Given the description of an element on the screen output the (x, y) to click on. 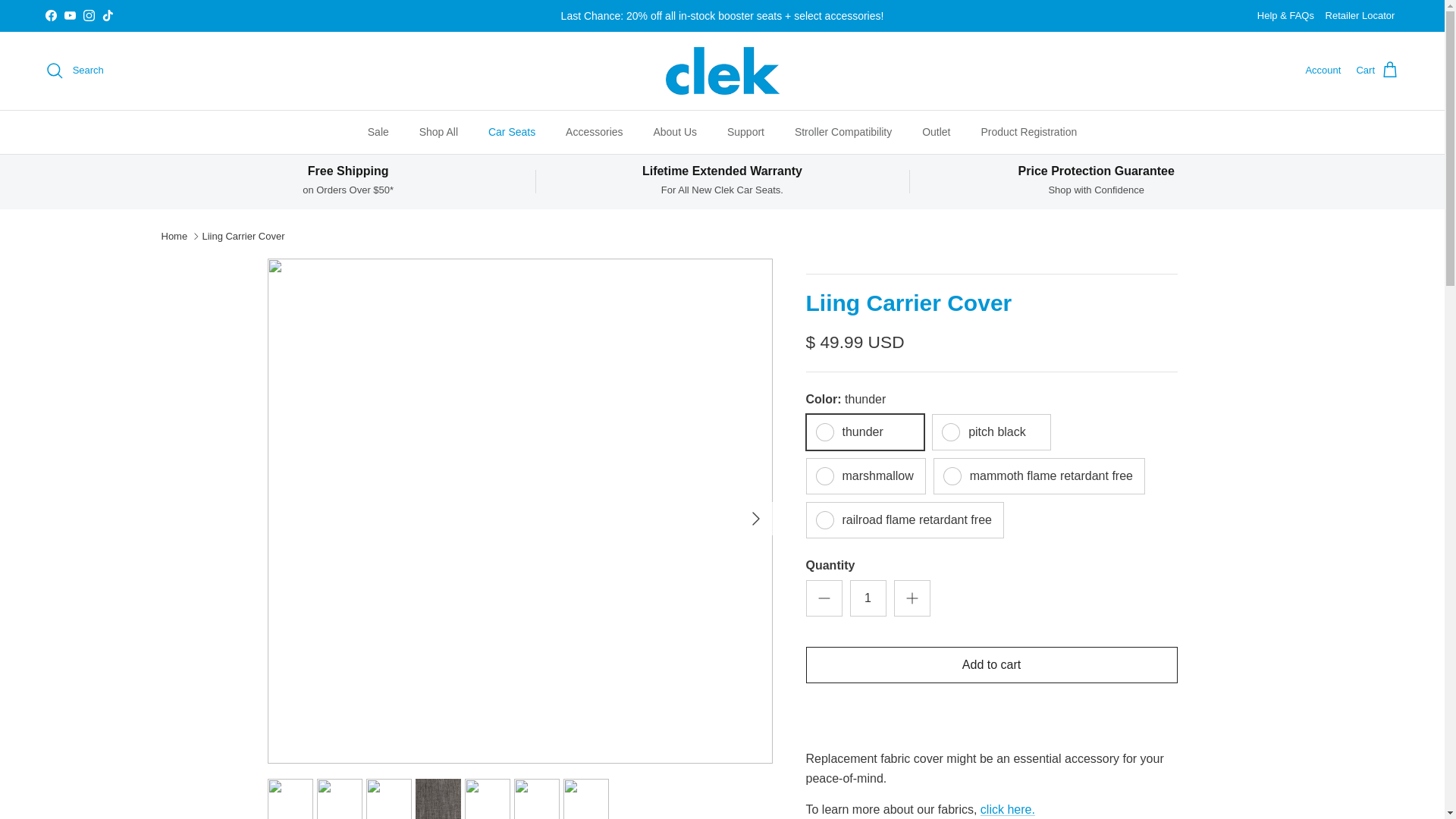
Facebook (50, 15)
ShopClek US on TikTok (107, 15)
ShopClek US on Instagram (88, 15)
Car Seats (511, 131)
ShopClek US on YouTube (69, 15)
Retailer Locator (1359, 16)
Accessories (593, 131)
Cart (1377, 70)
About Us (674, 131)
Shop All (438, 131)
